Given the description of an element on the screen output the (x, y) to click on. 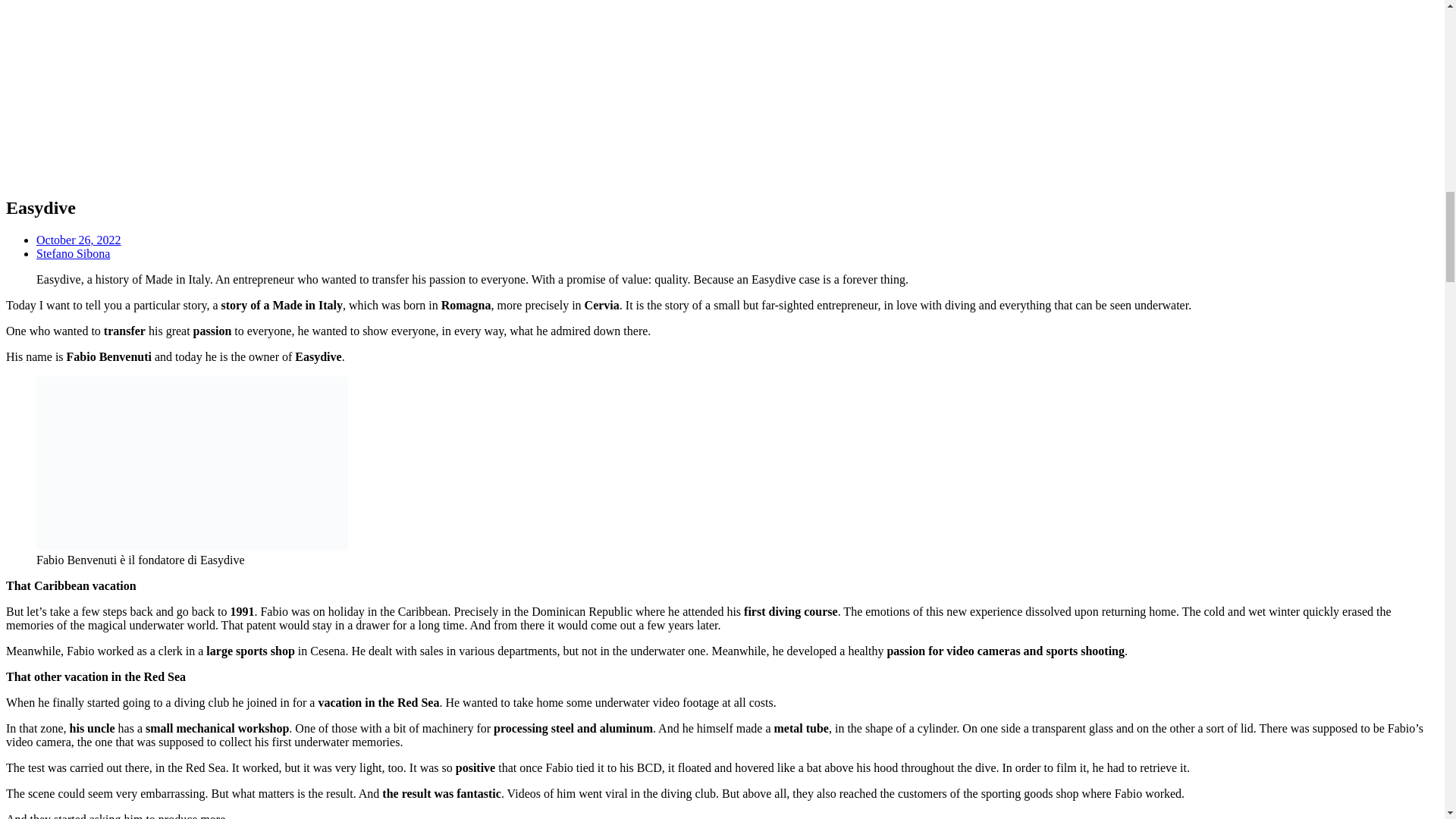
Stefano Sibona (73, 253)
October 26, 2022 (78, 239)
